Given the description of an element on the screen output the (x, y) to click on. 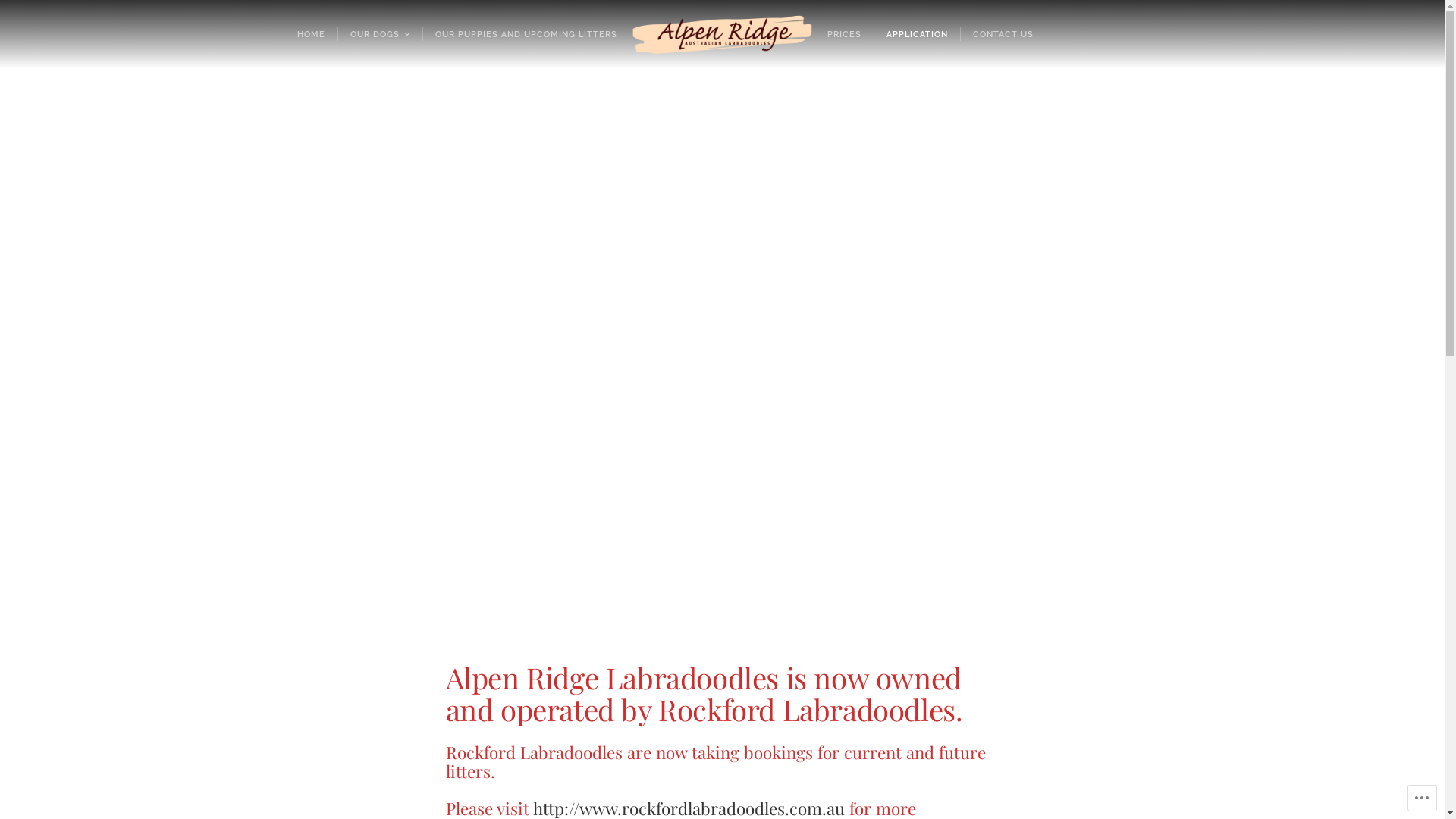
PRICES Element type: text (844, 33)
HOME Element type: text (311, 33)
OUR PUPPIES AND UPCOMING LITTERS Element type: text (525, 33)
CONTACT US Element type: text (1002, 33)
APPLICATION Element type: text (916, 33)
OUR DOGS Element type: text (379, 33)
